Given the description of an element on the screen output the (x, y) to click on. 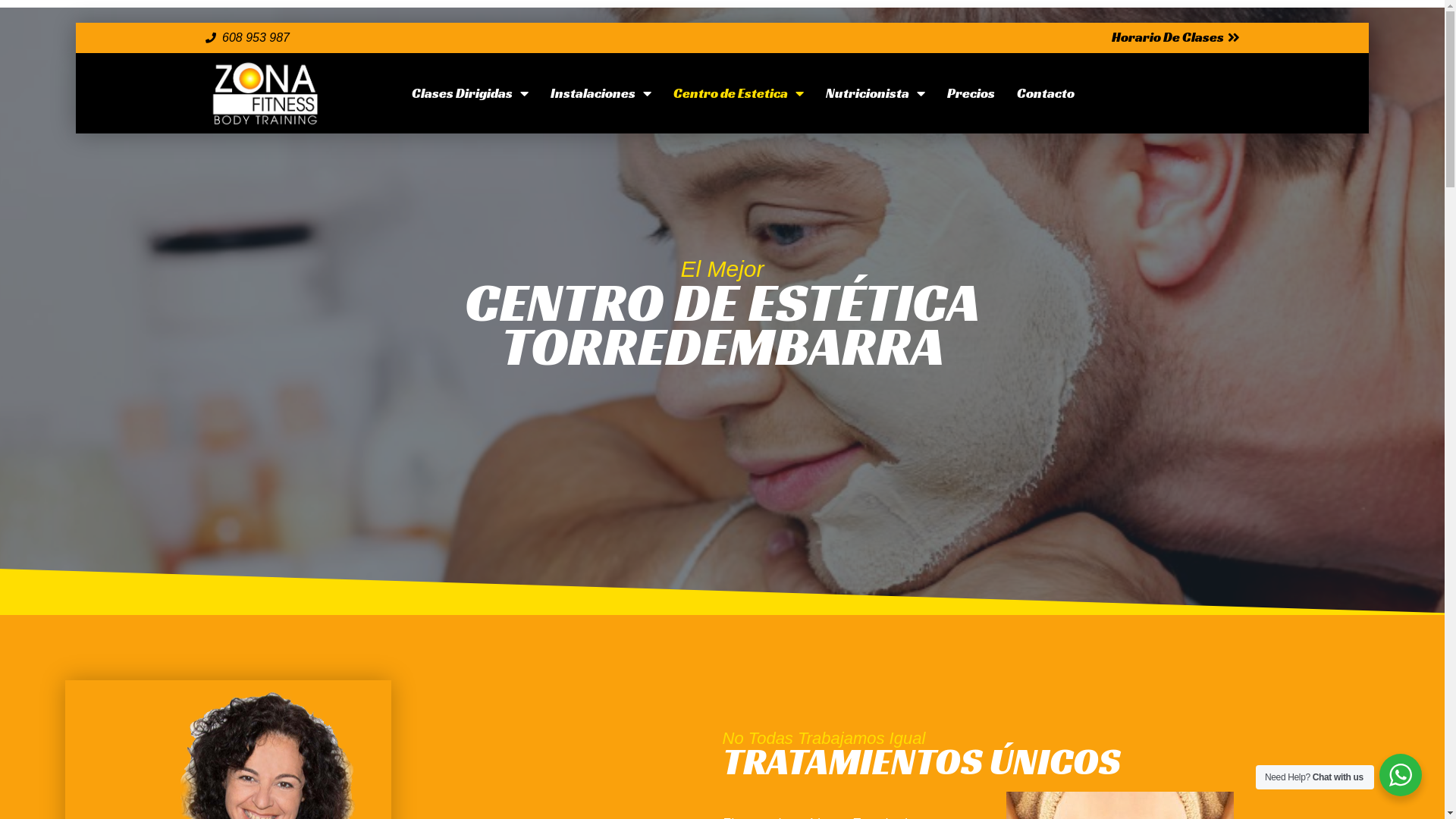
Contacto Element type: text (1045, 92)
Horario De Clases Element type: text (1175, 37)
Clases Dirigidas Element type: text (469, 92)
Nutricionista Element type: text (875, 92)
Centro de Estetica Element type: text (738, 92)
Precios Element type: text (970, 92)
Instalaciones Element type: text (600, 92)
